Given the description of an element on the screen output the (x, y) to click on. 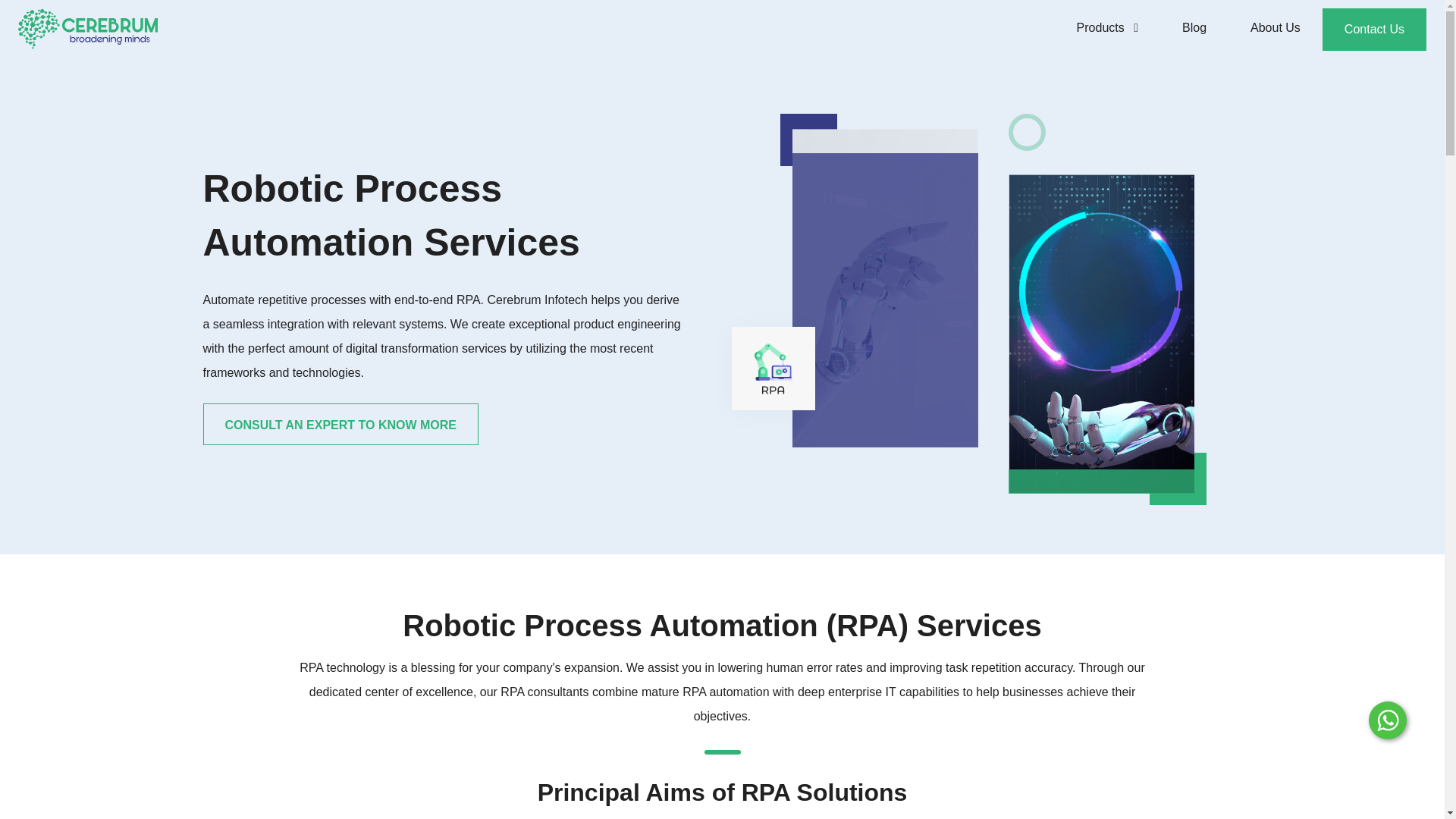
Products (1107, 29)
Blog (1194, 29)
About Us (1275, 29)
Contact Us (1374, 28)
